Given the description of an element on the screen output the (x, y) to click on. 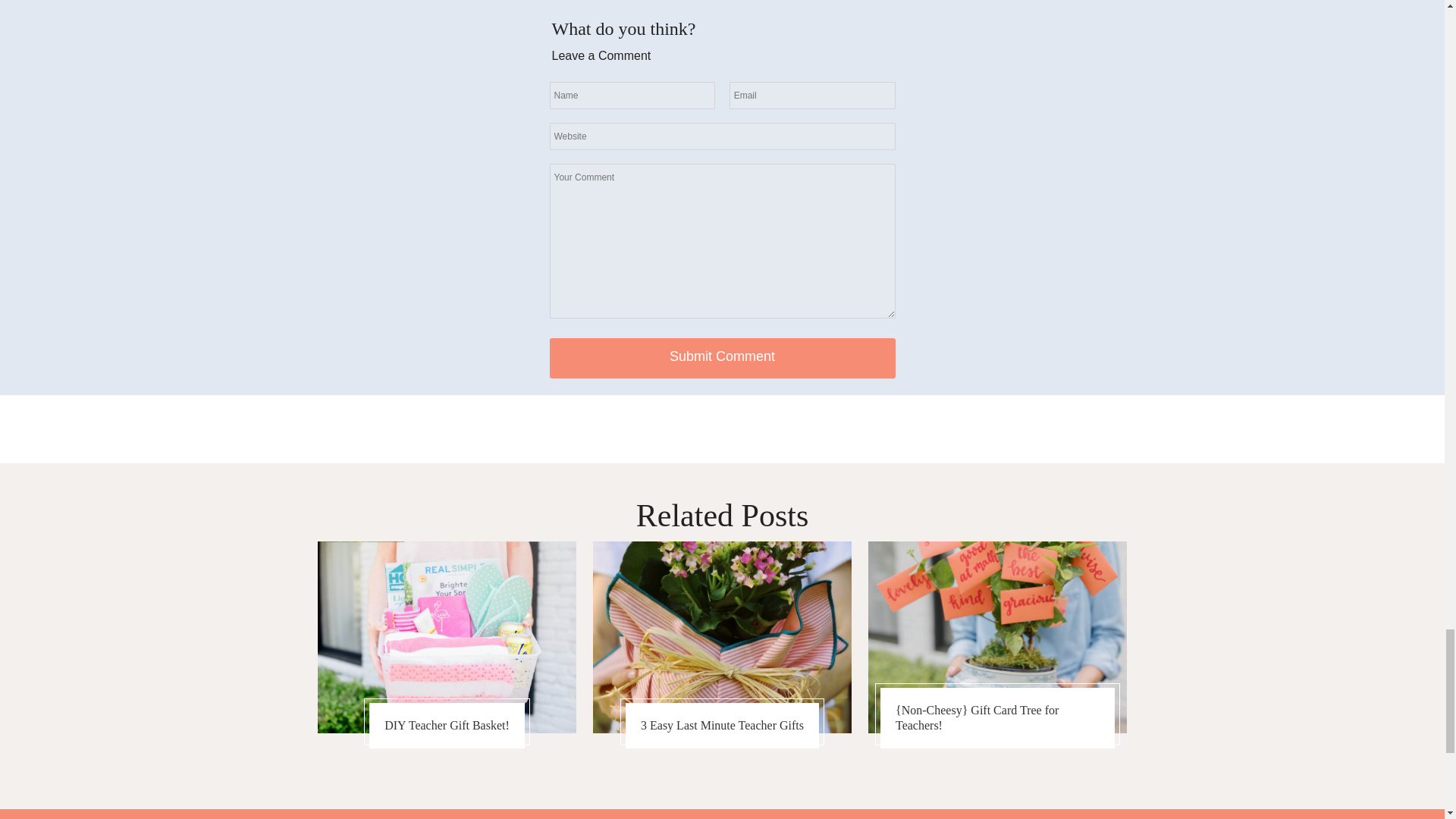
Submit Comment (721, 358)
